Given the description of an element on the screen output the (x, y) to click on. 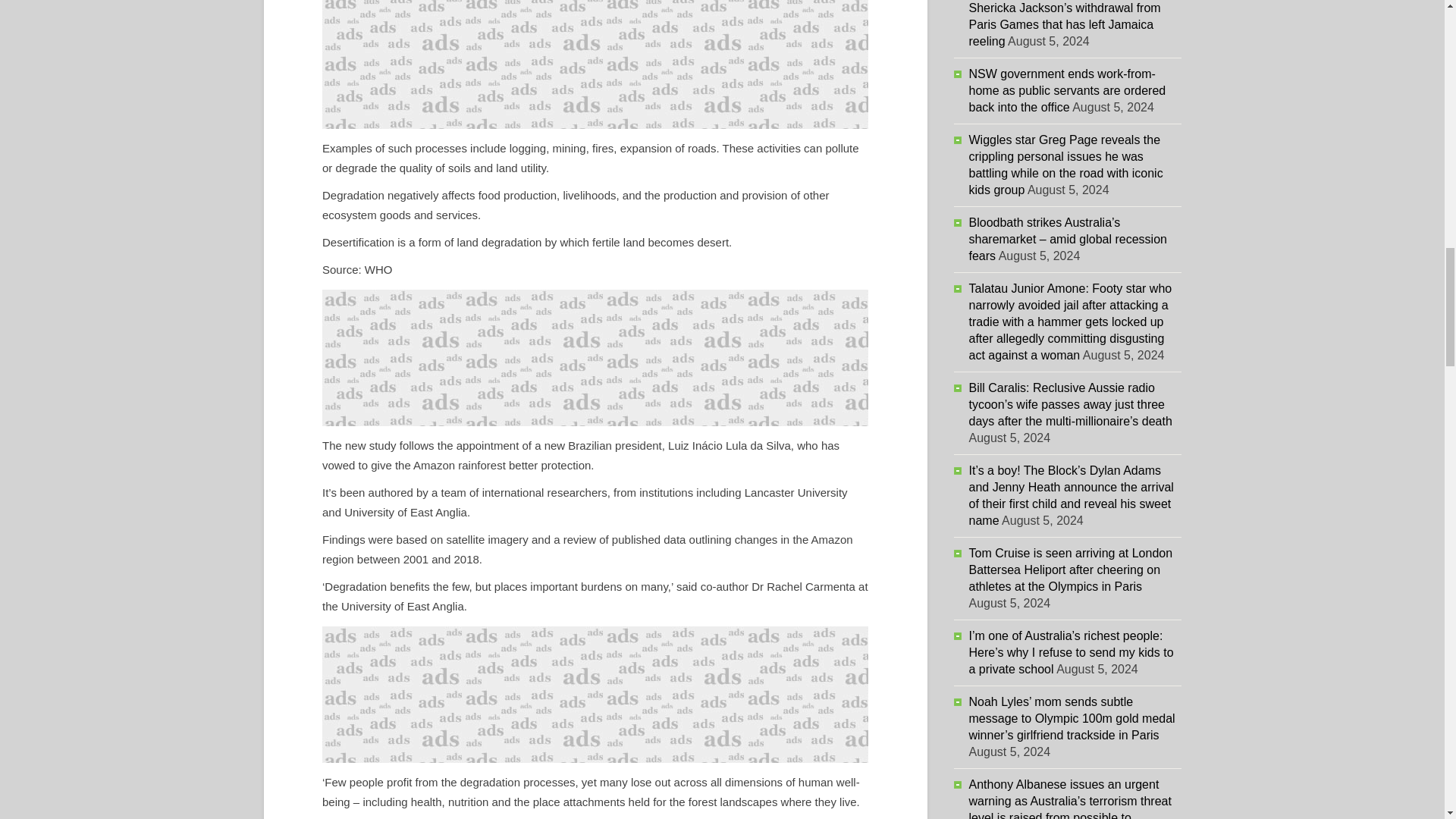
Advertisement (594, 694)
Advertisement (594, 357)
Advertisement (594, 64)
